Given the description of an element on the screen output the (x, y) to click on. 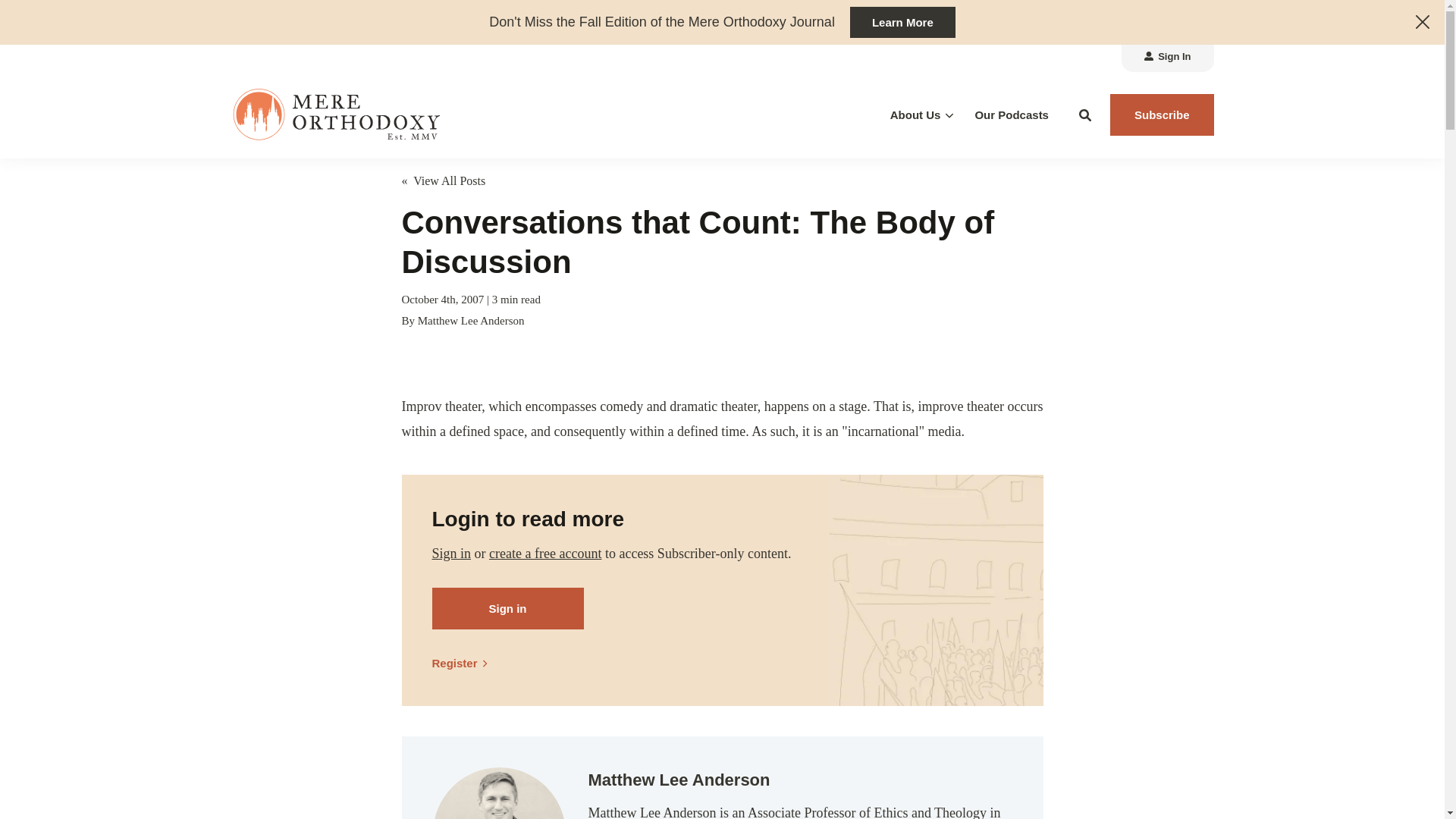
Open Search (1085, 114)
Open Search (1085, 114)
Our Podcasts (1010, 114)
Learn More (902, 21)
Matthew Lee Anderson (498, 793)
Matthew Lee Anderson (470, 320)
Sign in (507, 608)
create a free account (545, 553)
Matthew Lee Anderson (679, 779)
Matthew Lee Anderson (470, 320)
Mere Orthodoxy (337, 114)
Sign In (1167, 58)
Subscribe (1161, 114)
Register (465, 663)
Sign in (451, 553)
